Given the description of an element on the screen output the (x, y) to click on. 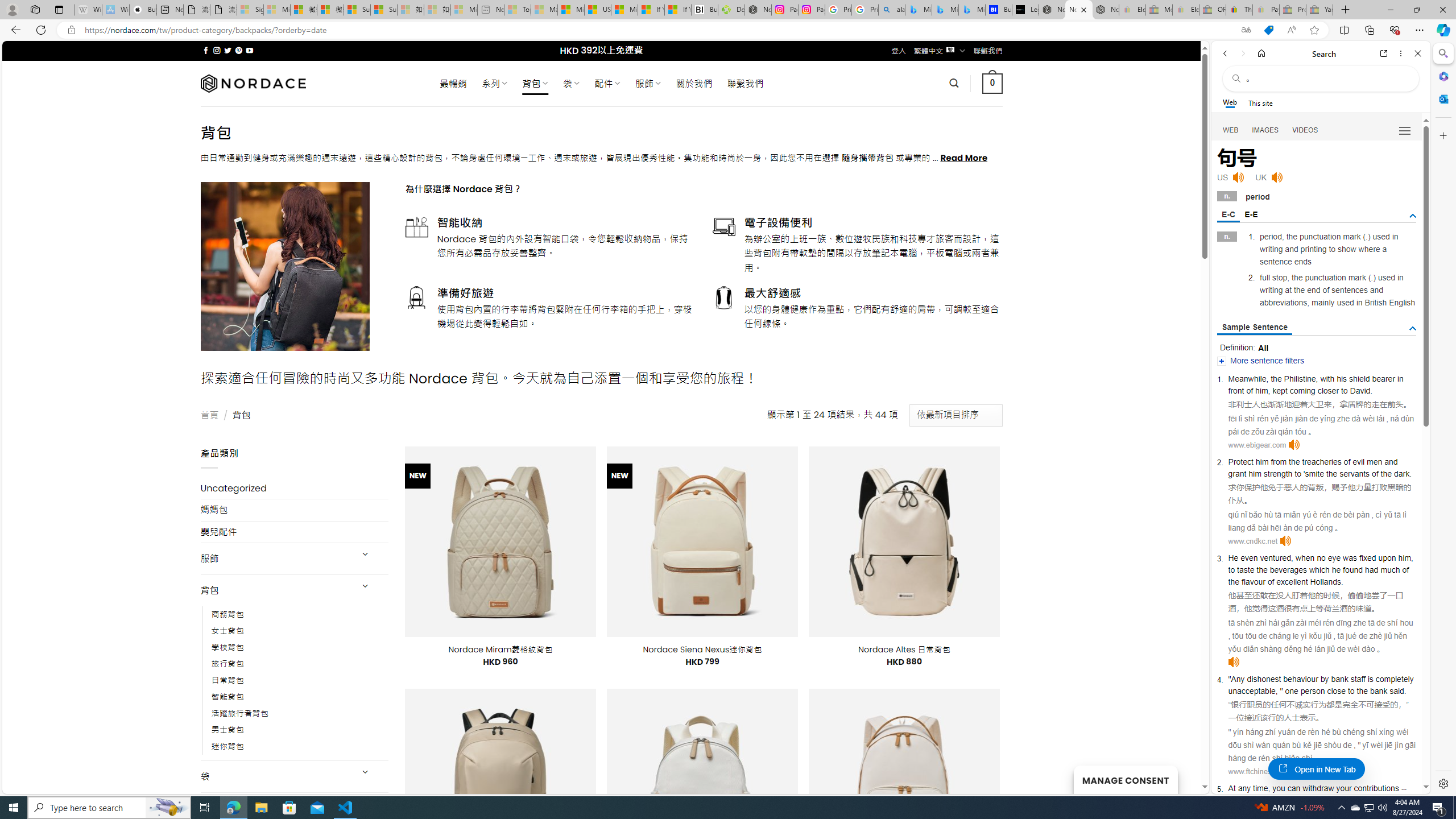
staff (1357, 678)
Follow on Instagram (216, 50)
Follow on Facebook (205, 50)
